Given the description of an element on the screen output the (x, y) to click on. 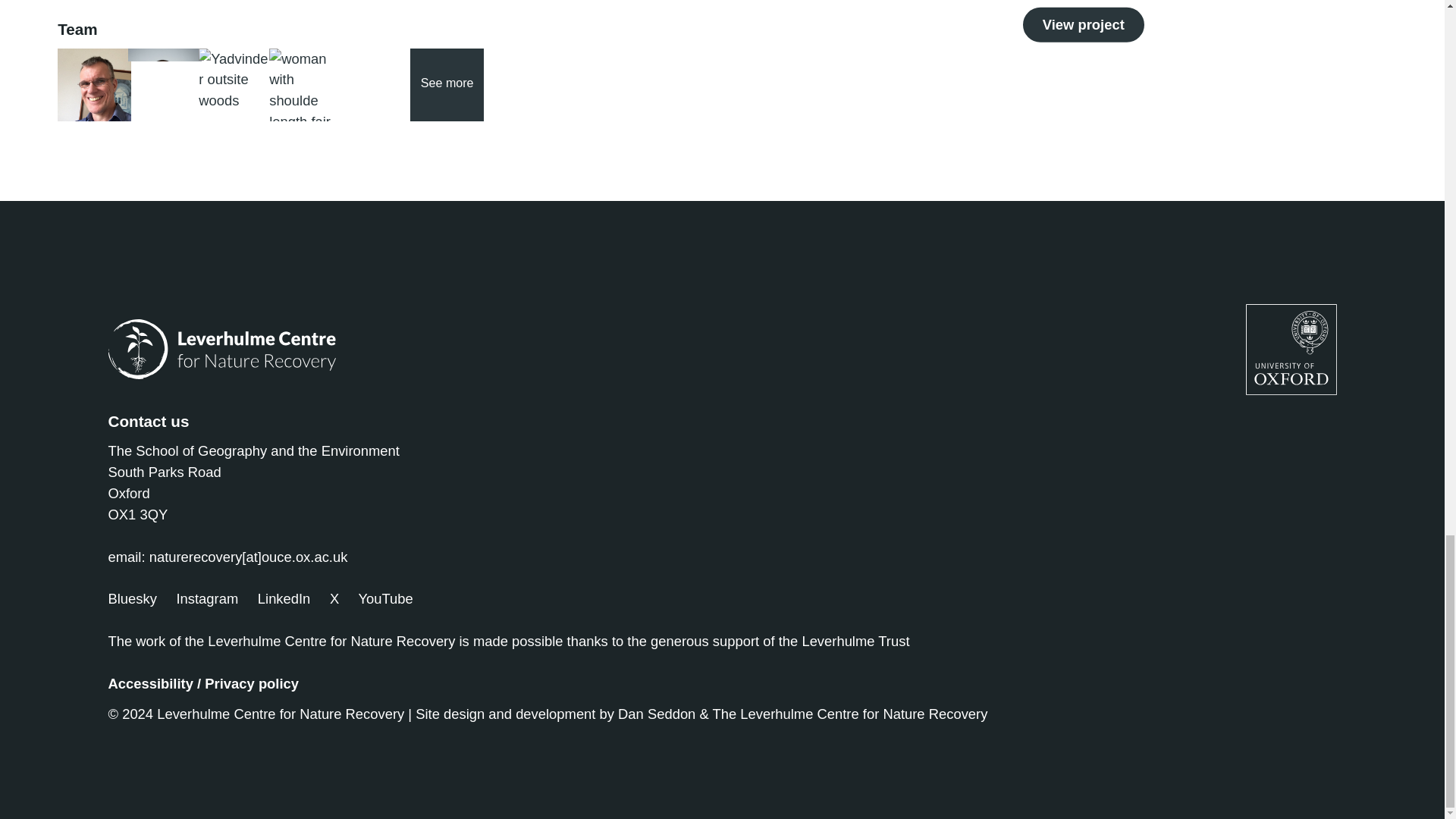
Leverhulme Center for Nature Recovery homepage (220, 349)
Go to Dan Seddon - FranklynJones Web Design (656, 713)
Oxford University website (1290, 348)
